Given the description of an element on the screen output the (x, y) to click on. 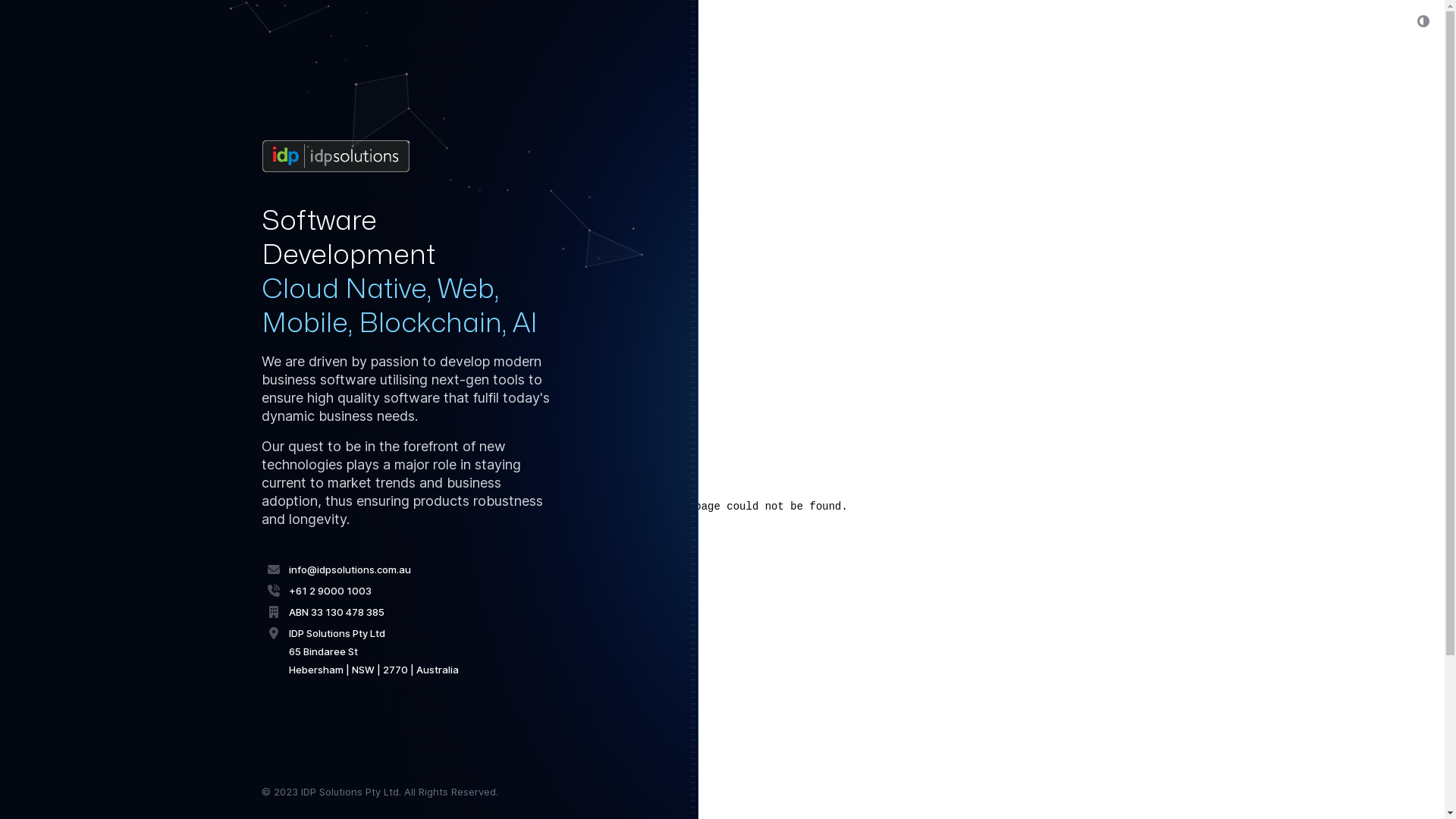
Switch to dark theme Element type: text (1423, 20)
